Given the description of an element on the screen output the (x, y) to click on. 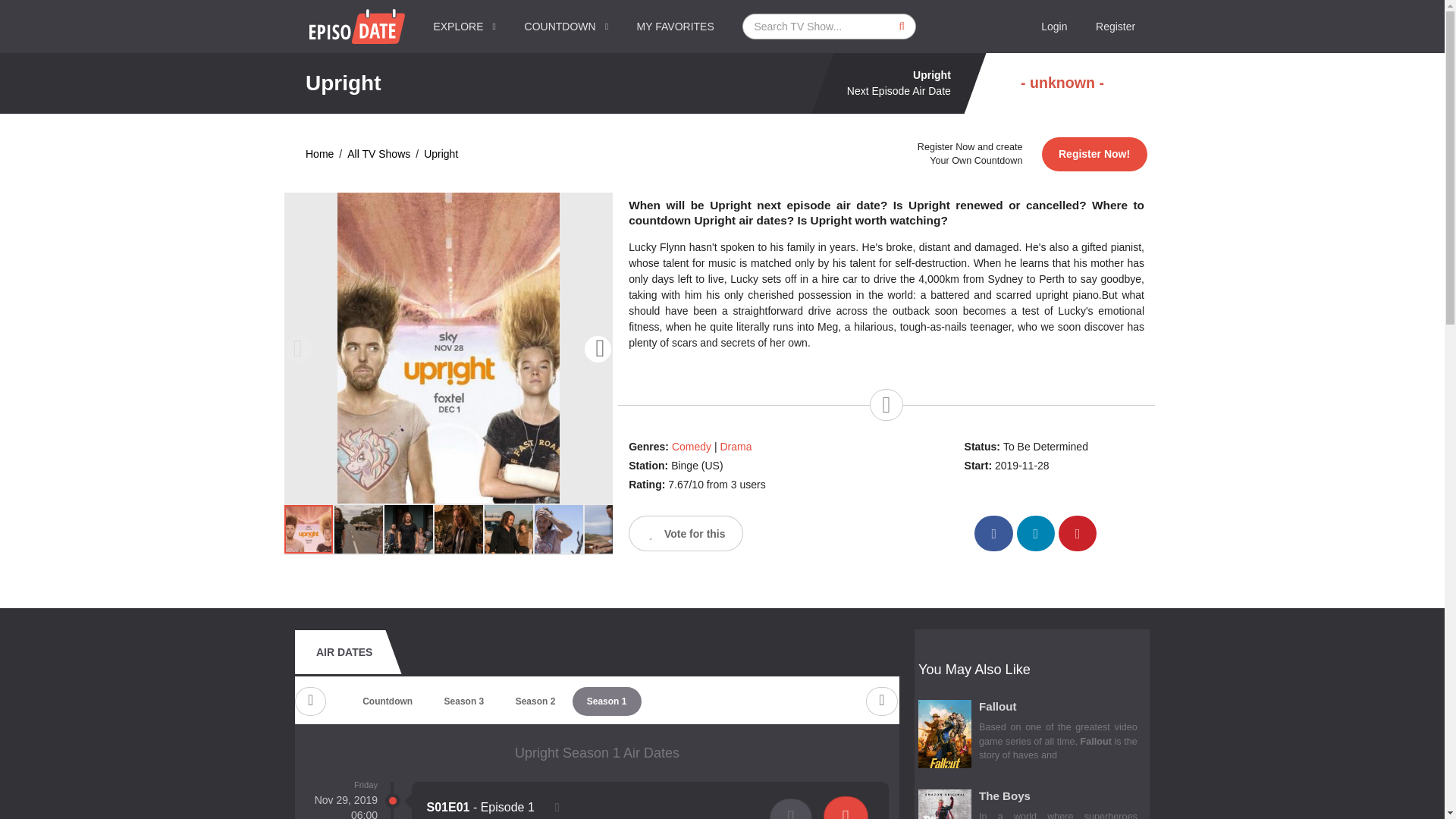
Login (1053, 26)
Vote for this (685, 533)
Home (319, 154)
AIR DATES (344, 651)
Upright (440, 154)
Drama (736, 446)
Season 3 (463, 701)
Comedy (691, 446)
Register Now! (1094, 154)
Register (1115, 26)
MY FAVORITES (676, 26)
Countdown (386, 701)
All TV Shows (378, 154)
